Given the description of an element on the screen output the (x, y) to click on. 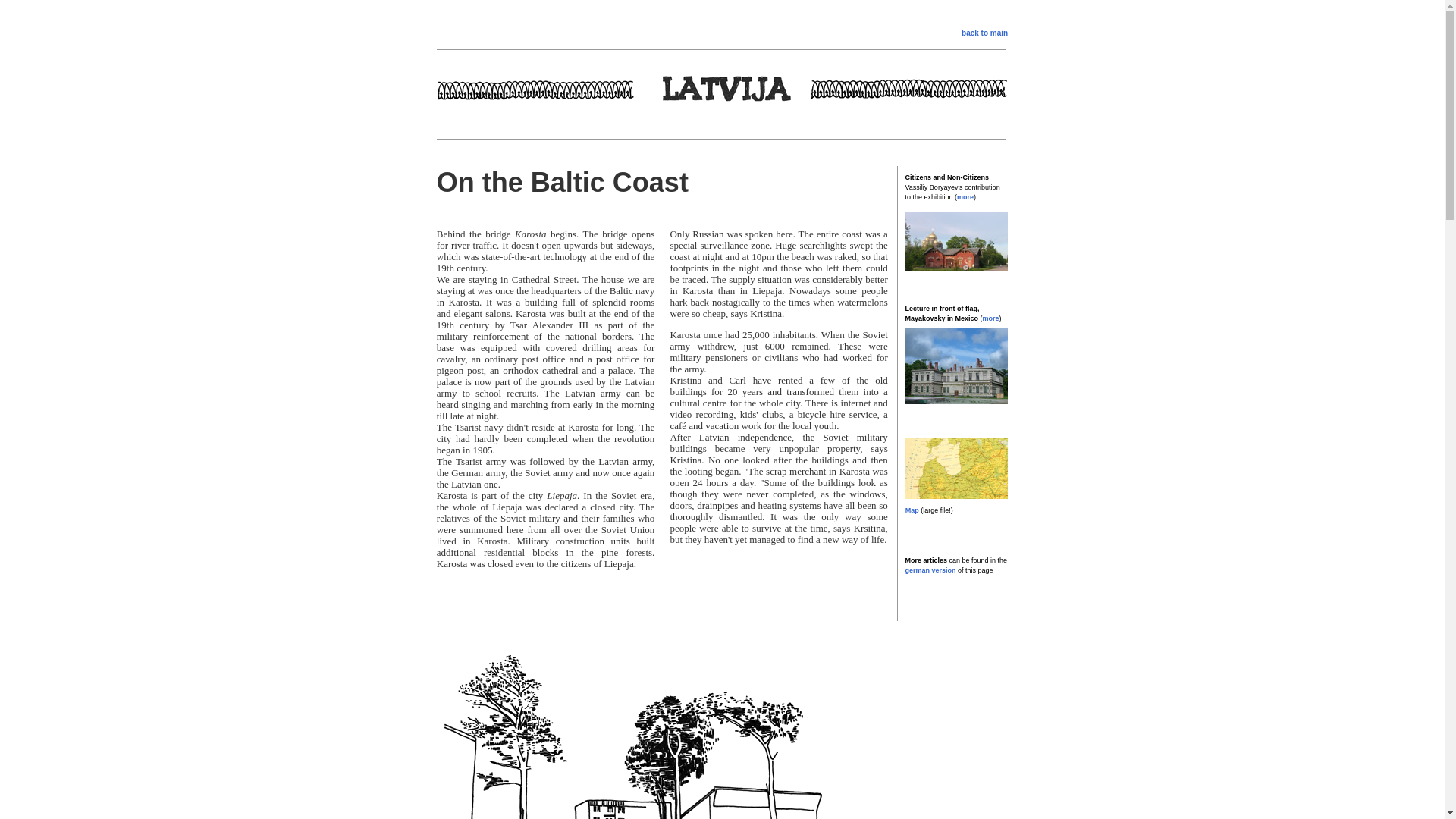
back to main (983, 32)
Map (911, 510)
more (990, 318)
more (965, 196)
german version (930, 570)
